Given the description of an element on the screen output the (x, y) to click on. 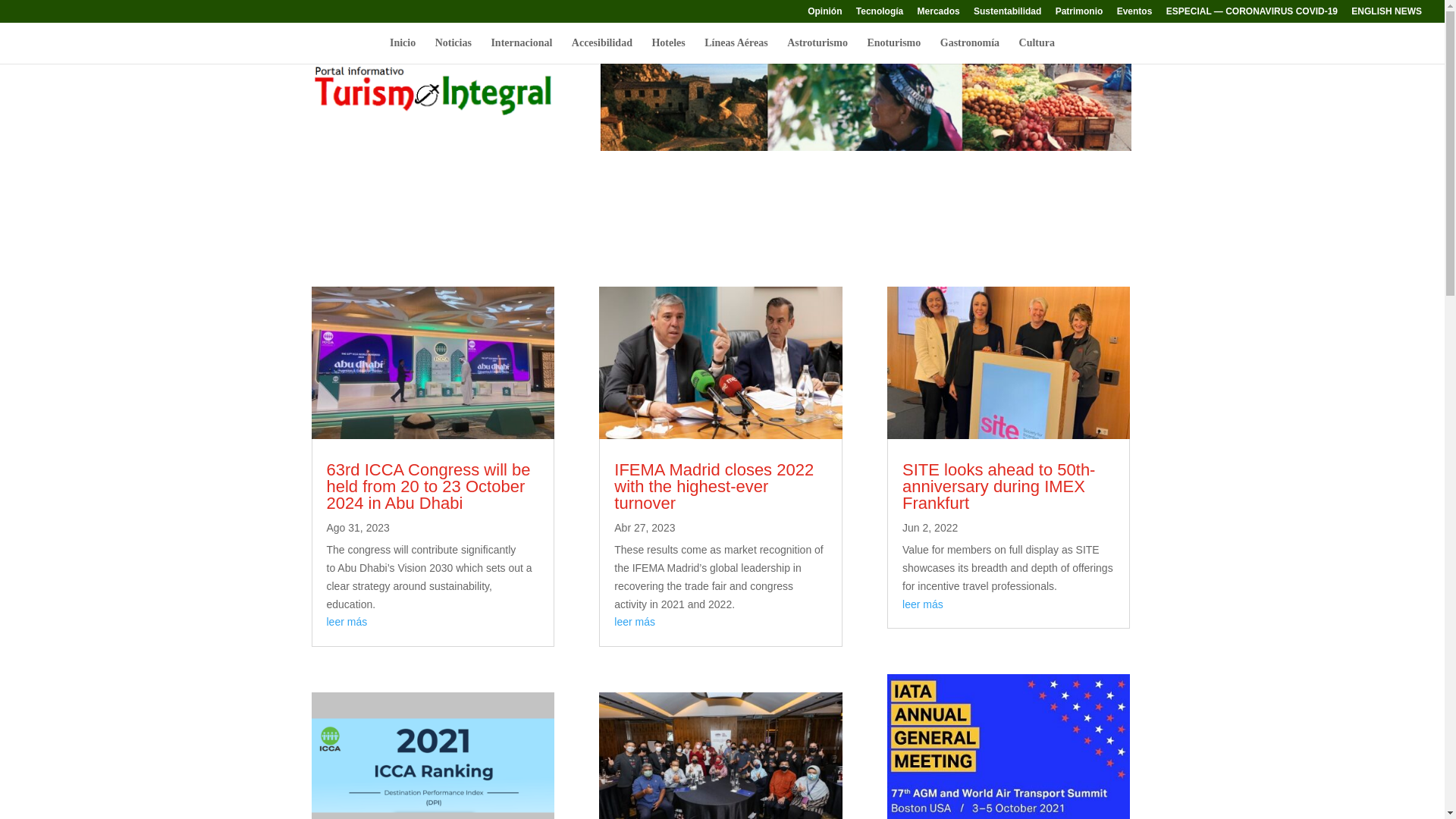
Noticias (453, 50)
Hoteles (667, 50)
Advertisement (721, 210)
Cultura (1036, 50)
Enoturismo (893, 50)
Patrimonio (1079, 14)
ENGLISH NEWS (1386, 14)
Inicio (402, 50)
Accesibilidad (601, 50)
Eventos (1134, 14)
Astroturismo (817, 50)
Sustentabilidad (1007, 14)
Internacional (520, 50)
Mercados (938, 14)
